Given the description of an element on the screen output the (x, y) to click on. 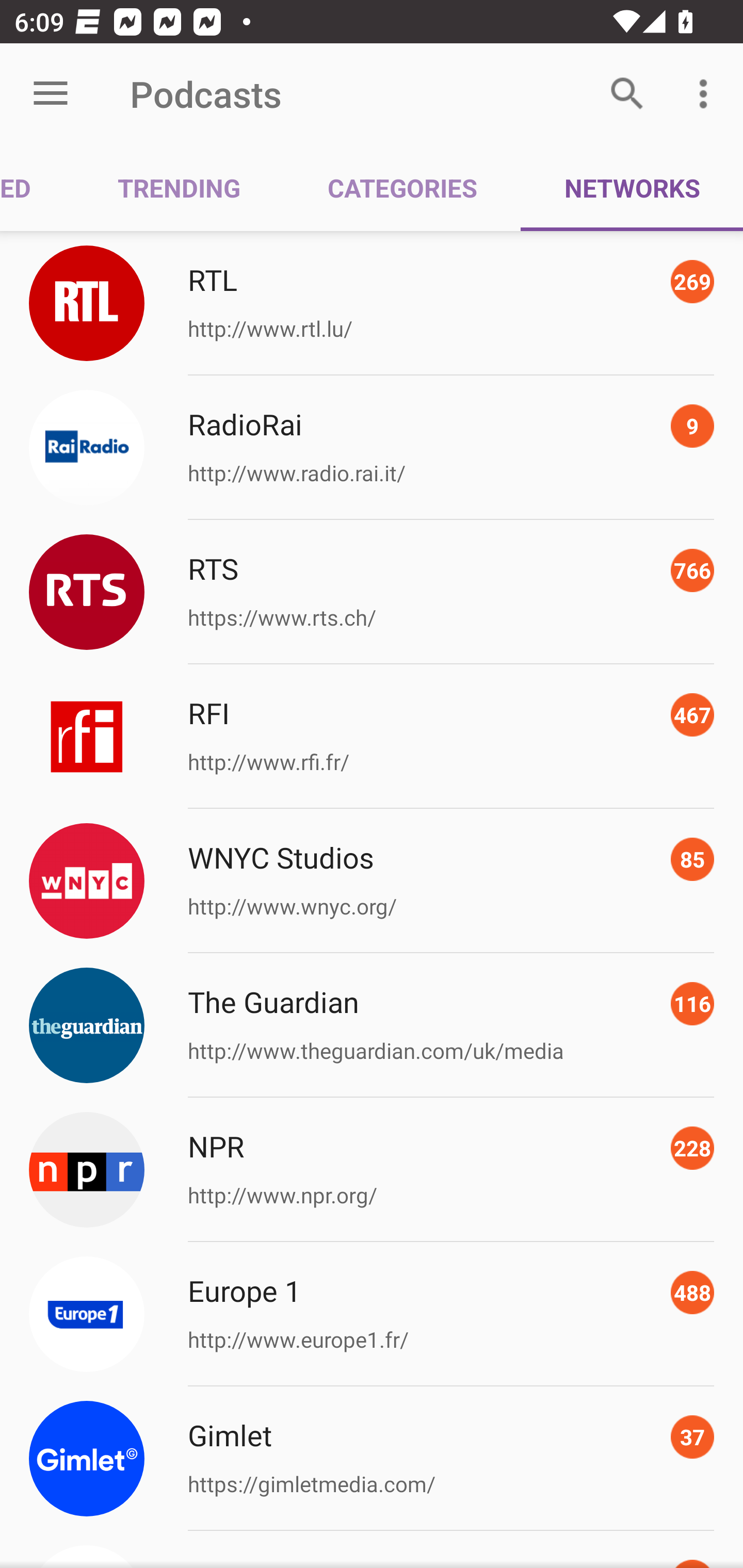
Open menu (50, 93)
Search (626, 93)
More options (706, 93)
TRENDING (178, 187)
CATEGORIES (401, 187)
NETWORKS (631, 187)
Picture RTL 269 http://www.rtl.lu/ (371, 302)
Picture RadioRai 9 http://www.radio.rai.it/ (371, 447)
Picture RTS 766 https://www.rts.ch/ (371, 592)
Picture RFI 467 http://www.rfi.fr/ (371, 736)
Picture WNYC Studios 85 http://www.wnyc.org/ (371, 881)
Picture NPR 228 http://www.npr.org/ (371, 1169)
Picture Europe 1 488 http://www.europe1.fr/ (371, 1313)
Picture Gimlet 37 https://gimletmedia.com/ (371, 1458)
